Given the description of an element on the screen output the (x, y) to click on. 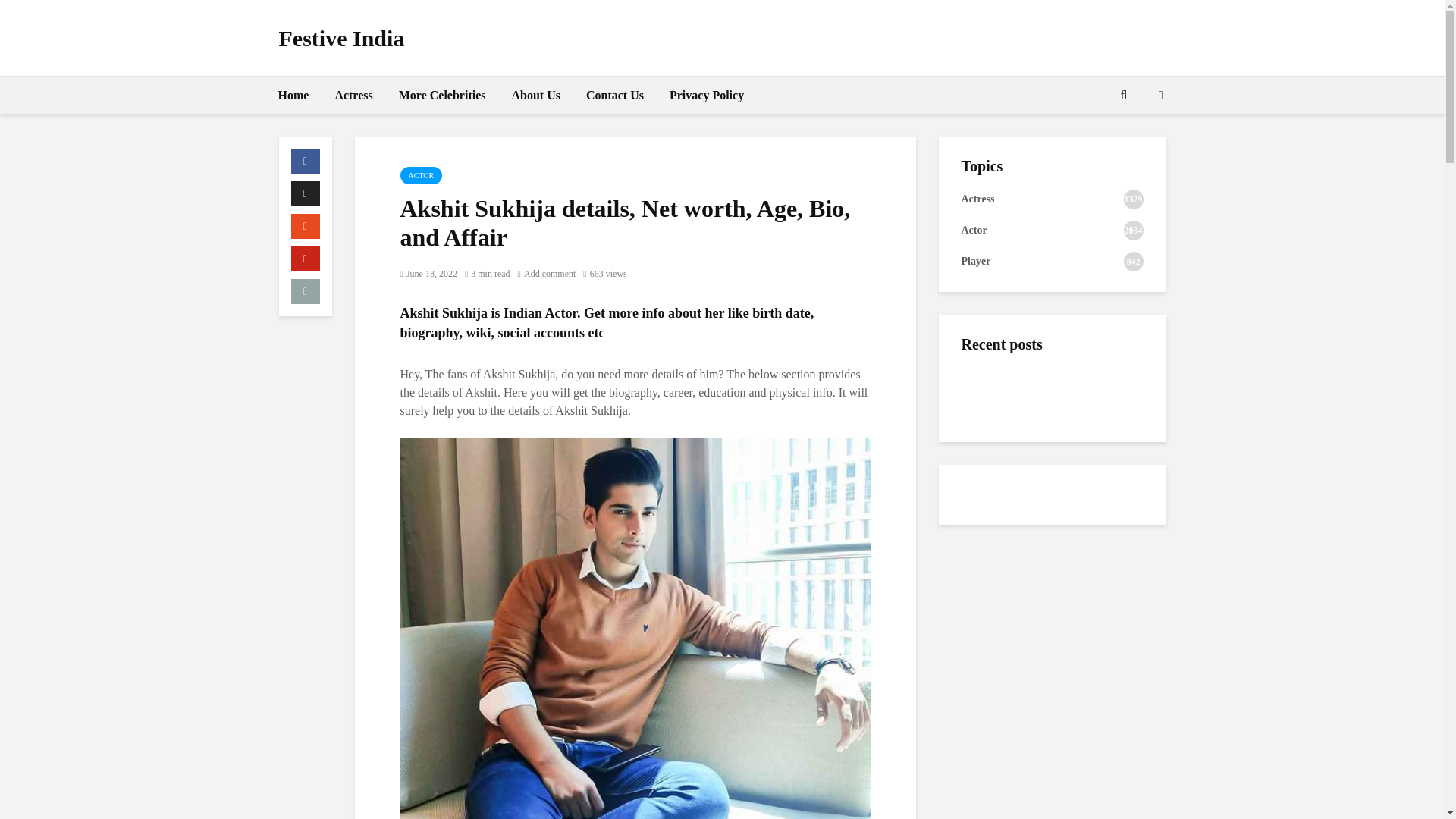
ACTOR (421, 175)
Actress (353, 95)
About Us (536, 95)
Privacy Policy (706, 95)
Add comment (547, 273)
Festive India (341, 37)
Contact Us (615, 95)
Home (293, 95)
More Celebrities (442, 95)
